Given the description of an element on the screen output the (x, y) to click on. 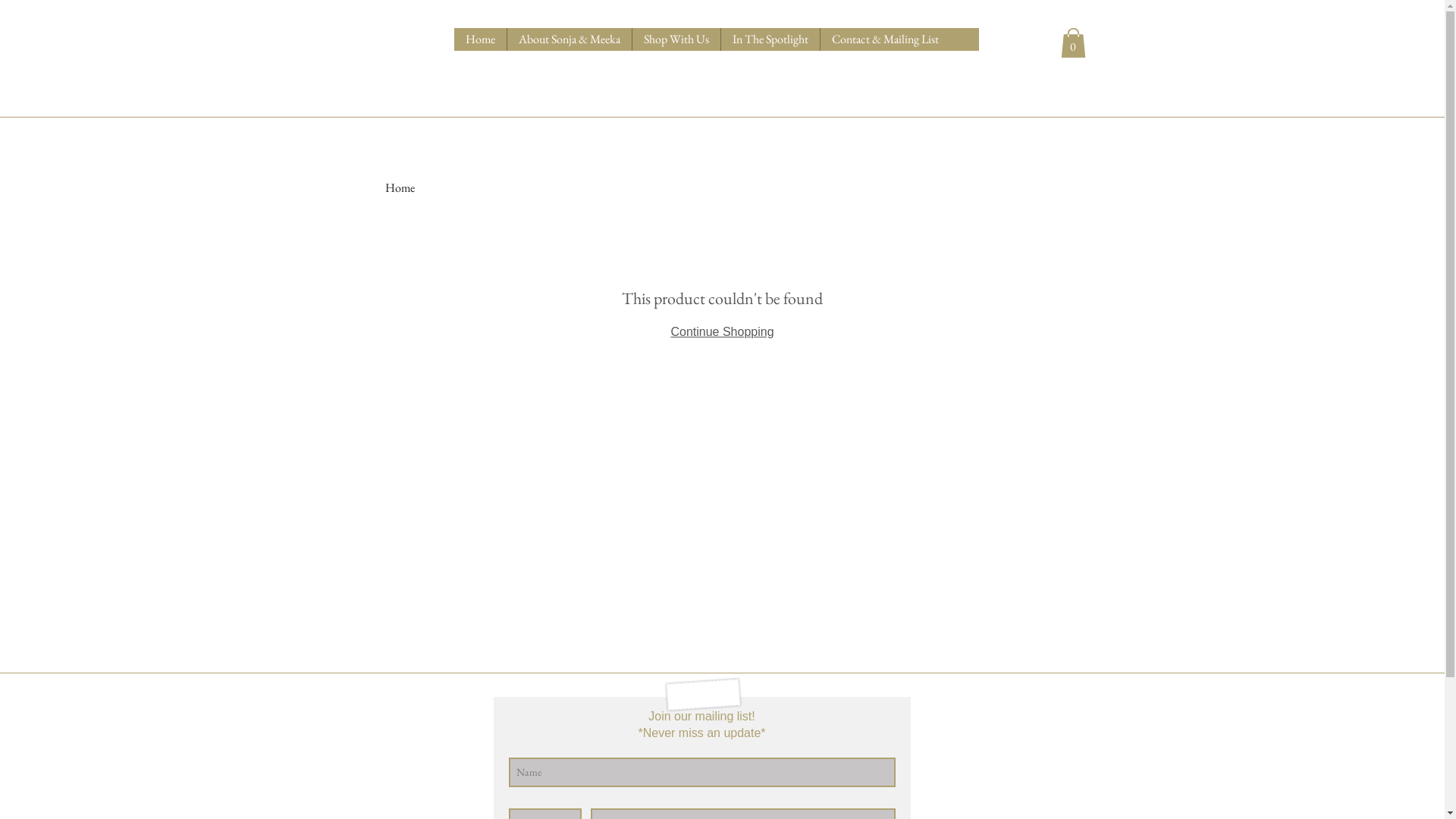
Contact & Mailing List Element type: text (884, 39)
Continue Shopping Element type: text (721, 331)
In The Spotlight Element type: text (769, 39)
Home Element type: text (399, 187)
Shop With Us Element type: text (674, 39)
Home Element type: text (479, 39)
About Sonja & Meeka Element type: text (568, 39)
0 Element type: text (1072, 42)
